Given the description of an element on the screen output the (x, y) to click on. 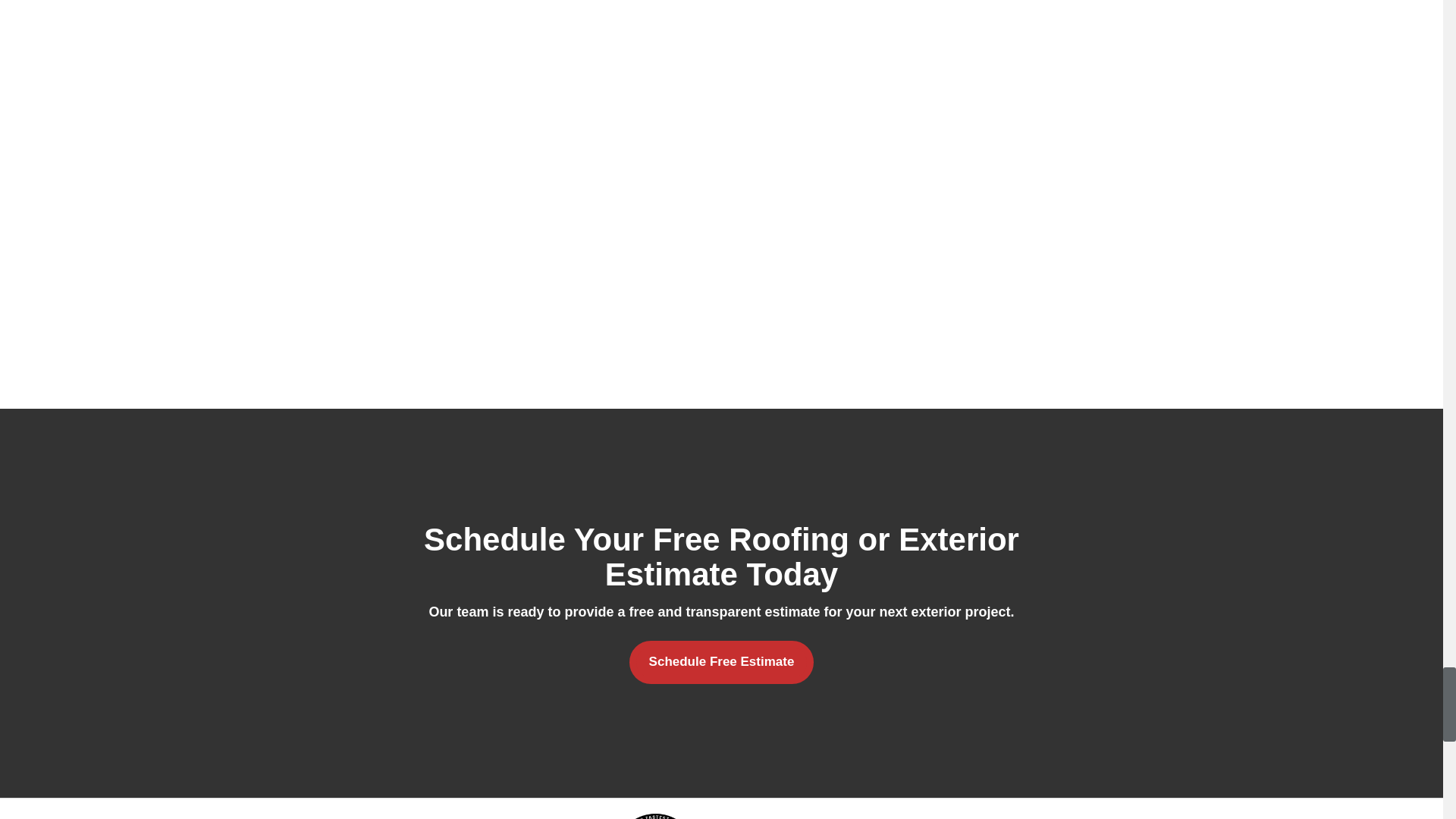
CertainTeed-5-Star (1052, 811)
CertainTeed-5-Star (787, 811)
CertainTeed-5-Star (522, 811)
CertainTeed-5-Star (921, 811)
CertainTeed-5-Star (389, 811)
CertainTeed-5-Star (654, 811)
CertainTeed-5-Star (1186, 811)
CertainTeed-5-Star (255, 811)
